Given the description of an element on the screen output the (x, y) to click on. 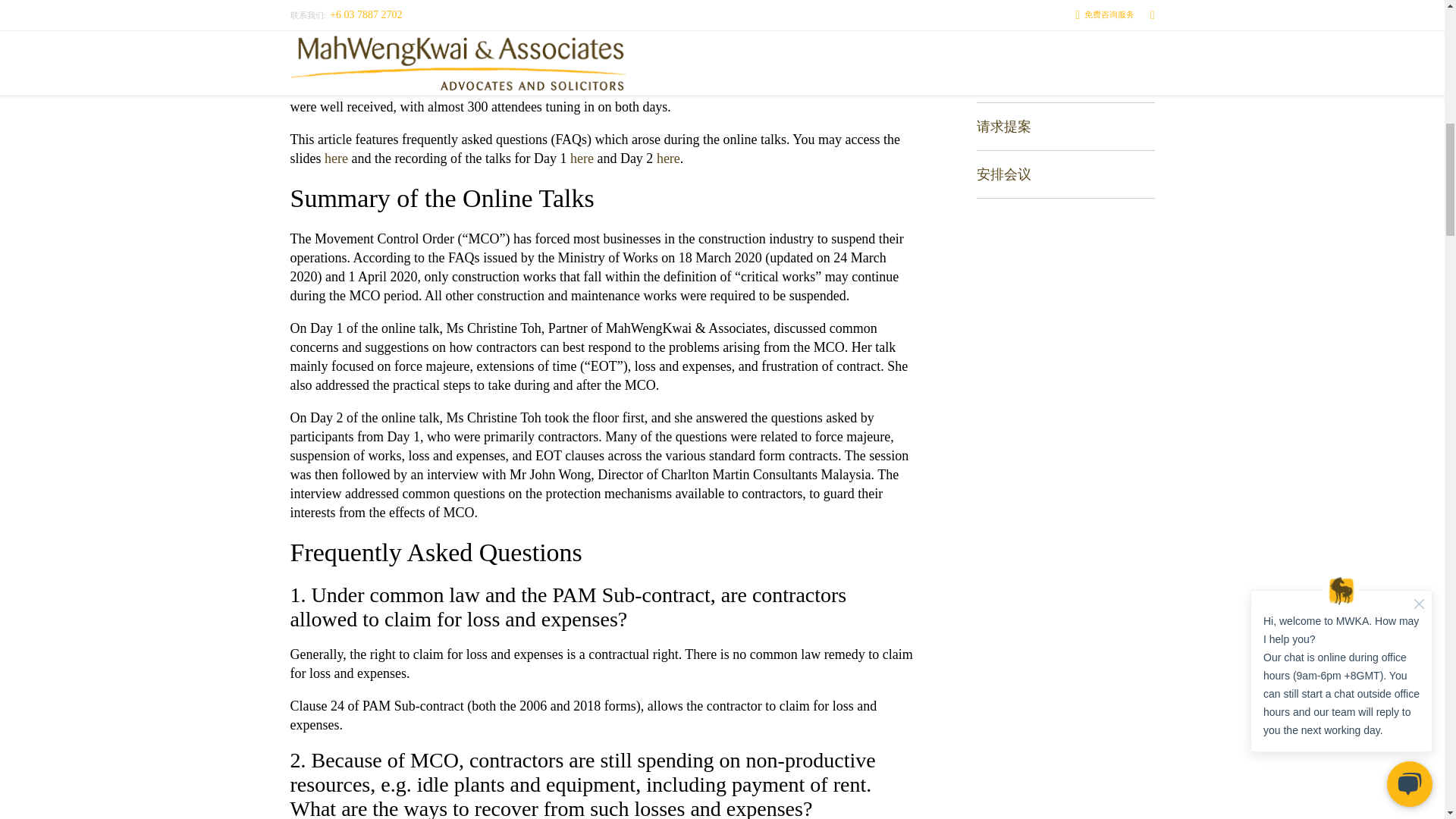
here (582, 158)
here (334, 158)
here (667, 158)
